Given the description of an element on the screen output the (x, y) to click on. 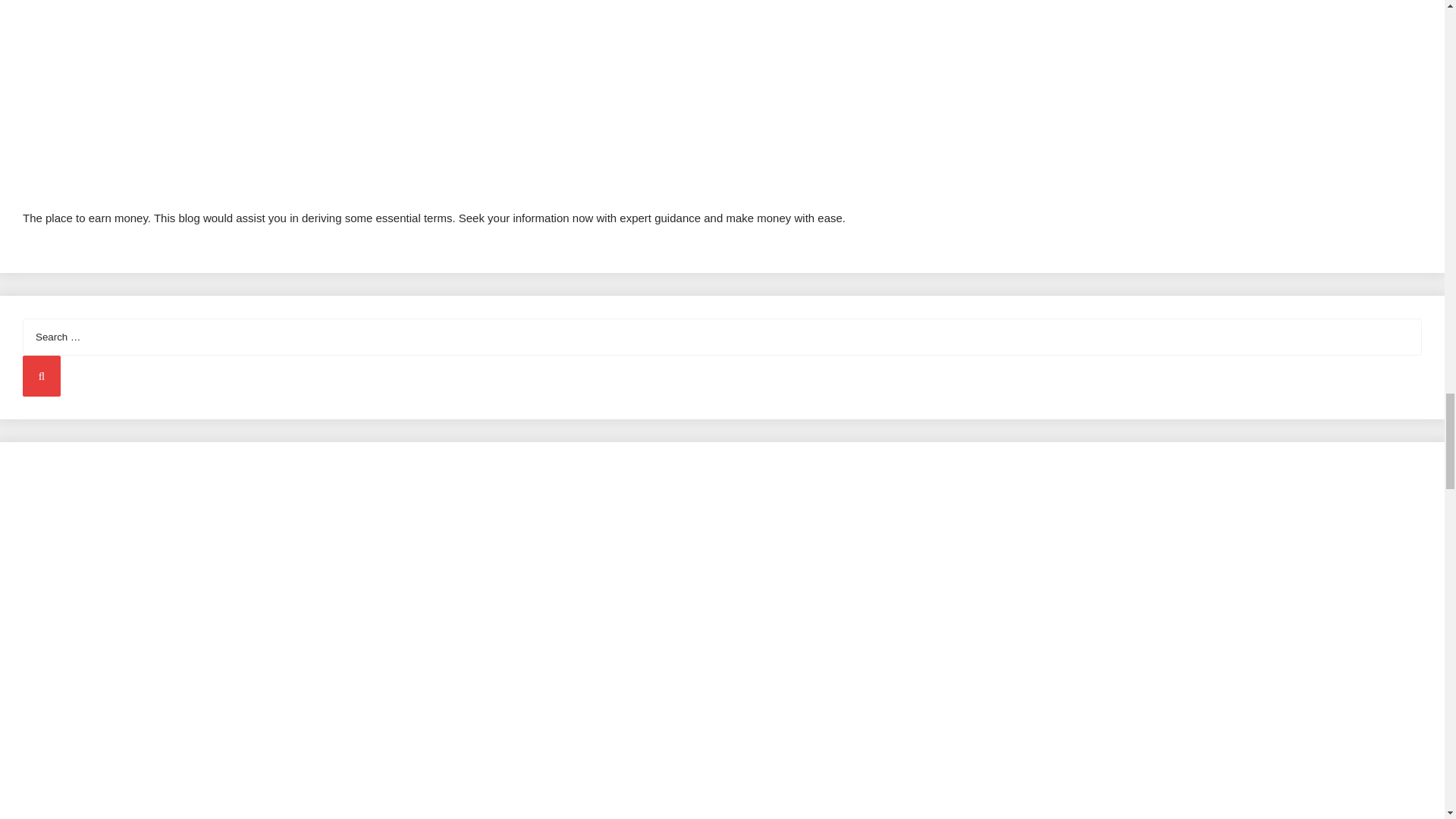
Search (42, 375)
